Given the description of an element on the screen output the (x, y) to click on. 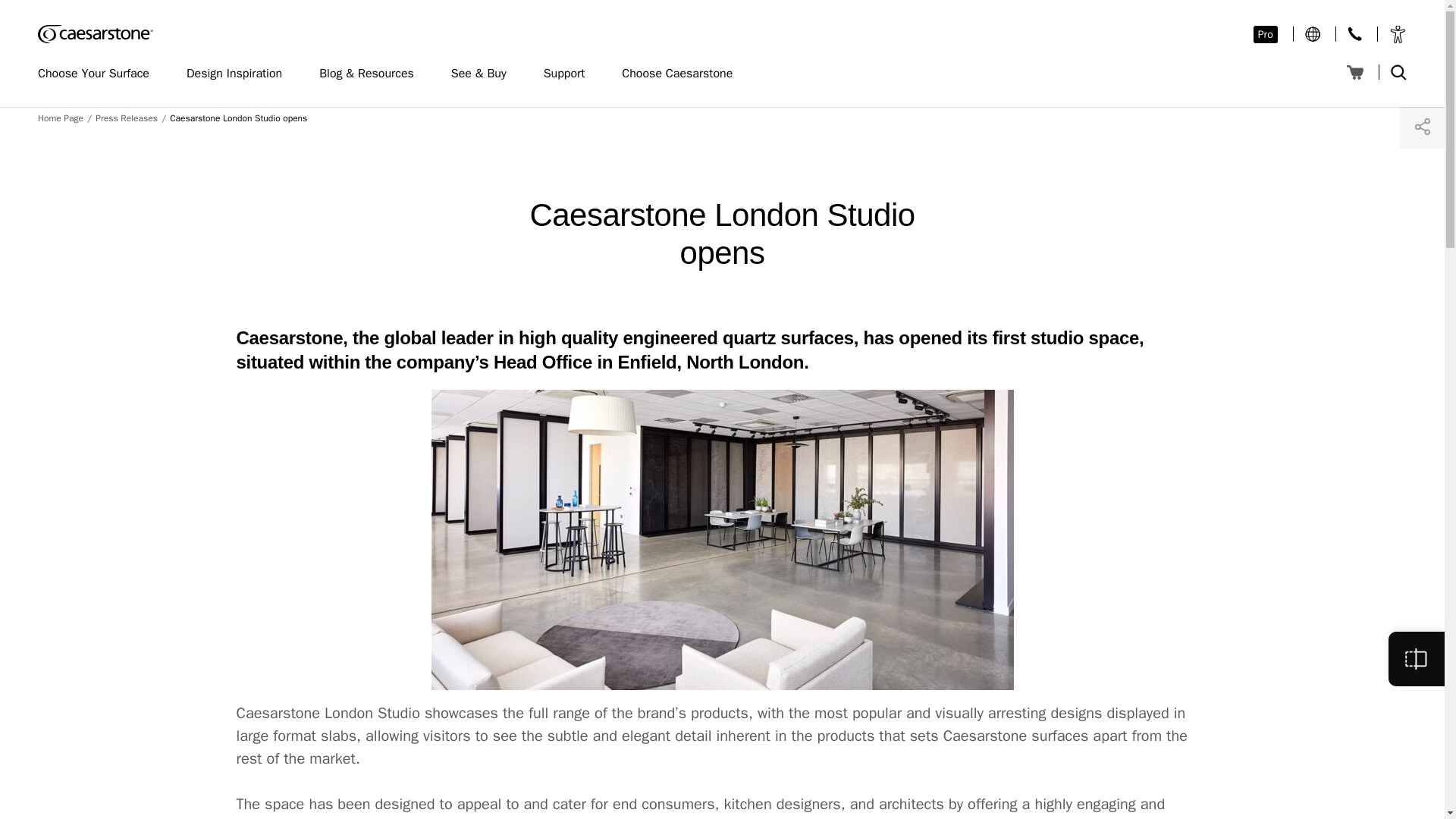
Choose Your Surface (100, 73)
Choose Your Surface (100, 73)
Design Inspiration (241, 73)
Support (571, 73)
Support (571, 73)
Pro (1265, 34)
Choose Caesarstone (683, 73)
Design Inspiration (241, 73)
Choose Caesarstone (683, 73)
: (1312, 33)
Homepage (94, 33)
